Given the description of an element on the screen output the (x, y) to click on. 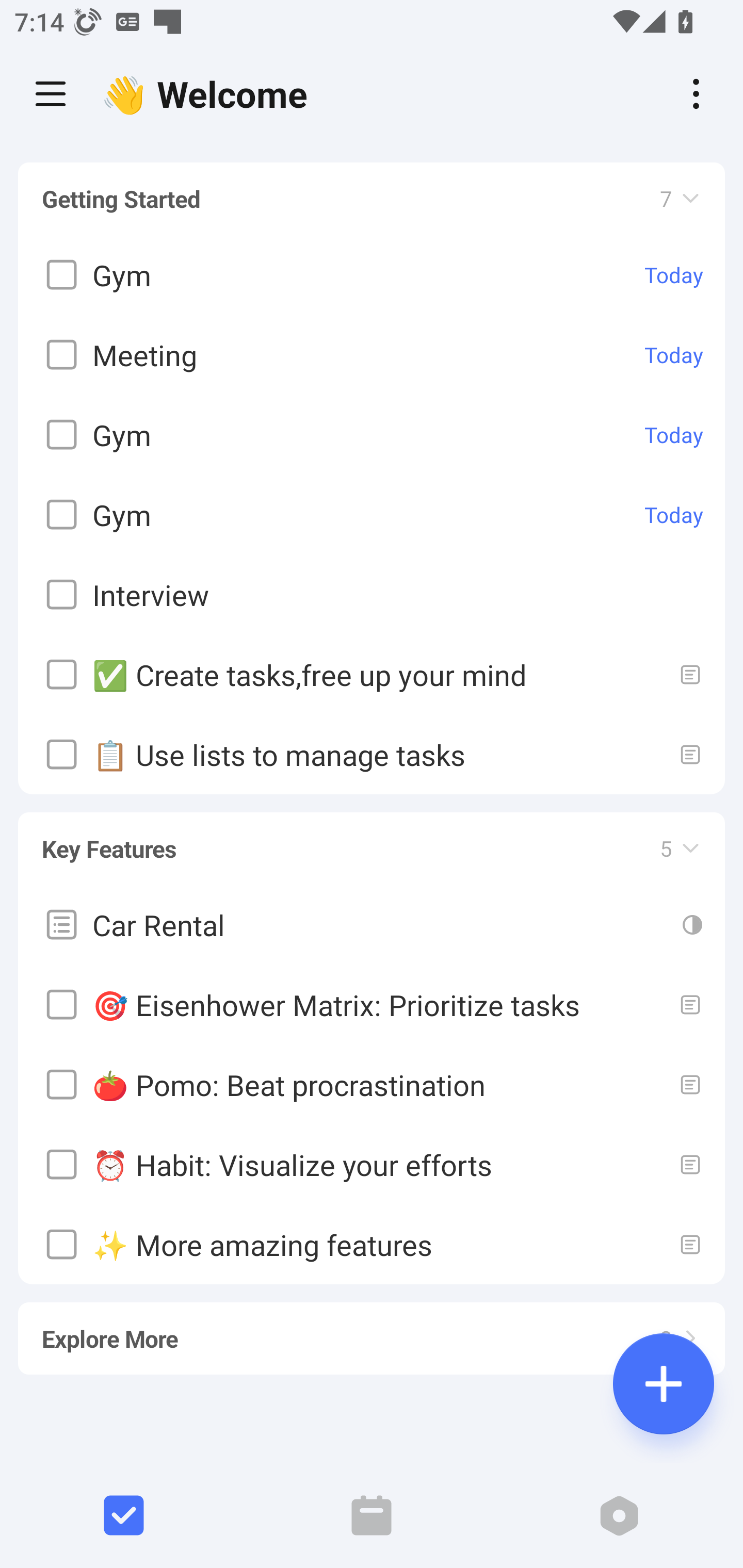
👋 Welcome (209, 93)
Getting Started 7 (371, 199)
Gym Today (371, 275)
Today (673, 275)
Meeting Today (371, 355)
Today (673, 355)
Gym Today (371, 435)
Today (673, 435)
Gym Today (371, 515)
Today (673, 514)
Interview (371, 595)
✅ Create tasks,free up your mind (371, 675)
📋 Use lists to manage tasks (371, 754)
Key Features 5 (371, 839)
Car Rental (371, 924)
🎯 Eisenhower Matrix: Prioritize tasks (371, 1004)
🍅 Pomo: Beat procrastination (371, 1084)
⏰ Habit: Visualize your efforts (371, 1164)
✨ More amazing features (371, 1244)
Explore More 2 (371, 1329)
